Given the description of an element on the screen output the (x, y) to click on. 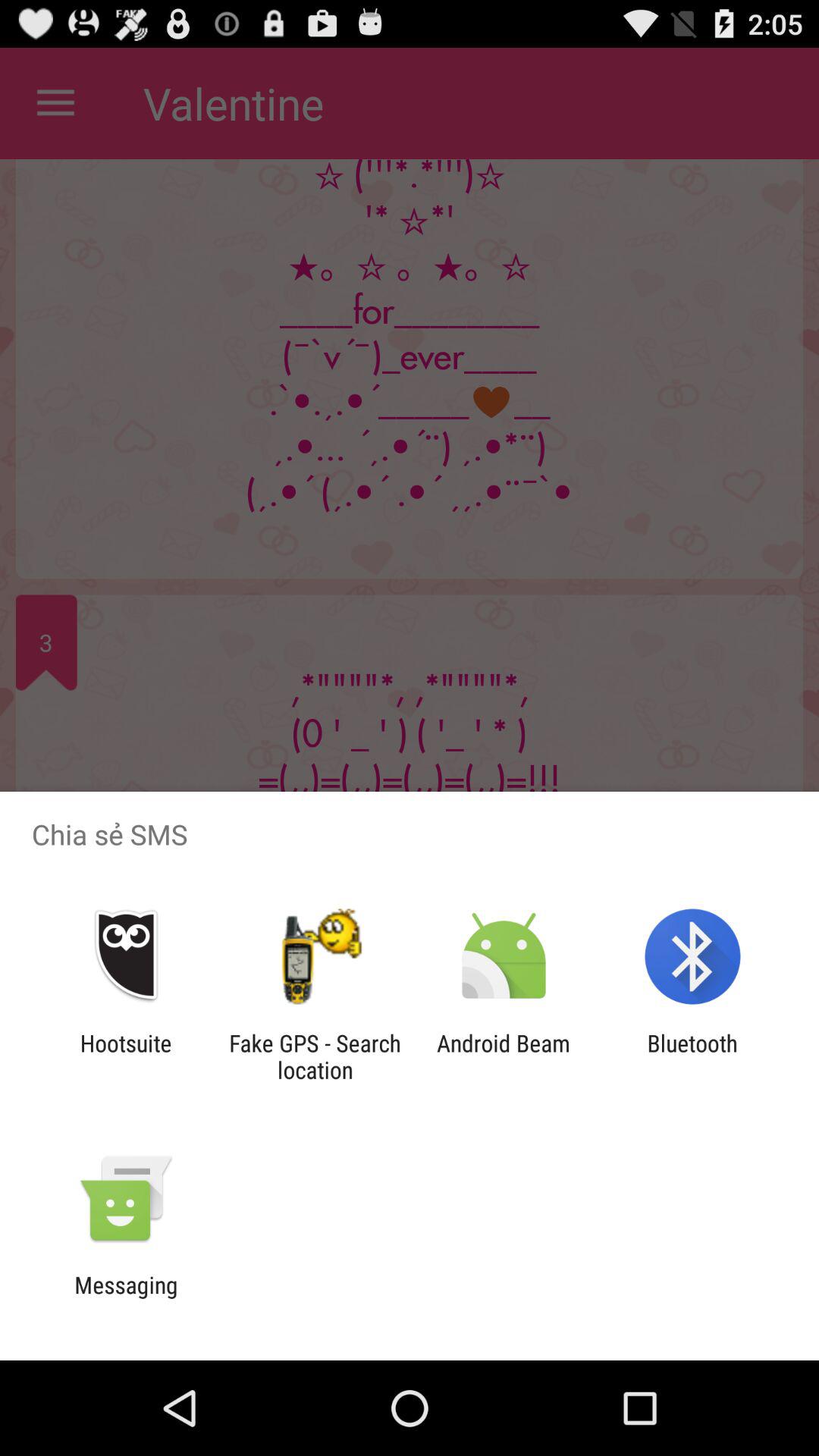
tap the icon to the left of the android beam item (314, 1056)
